Given the description of an element on the screen output the (x, y) to click on. 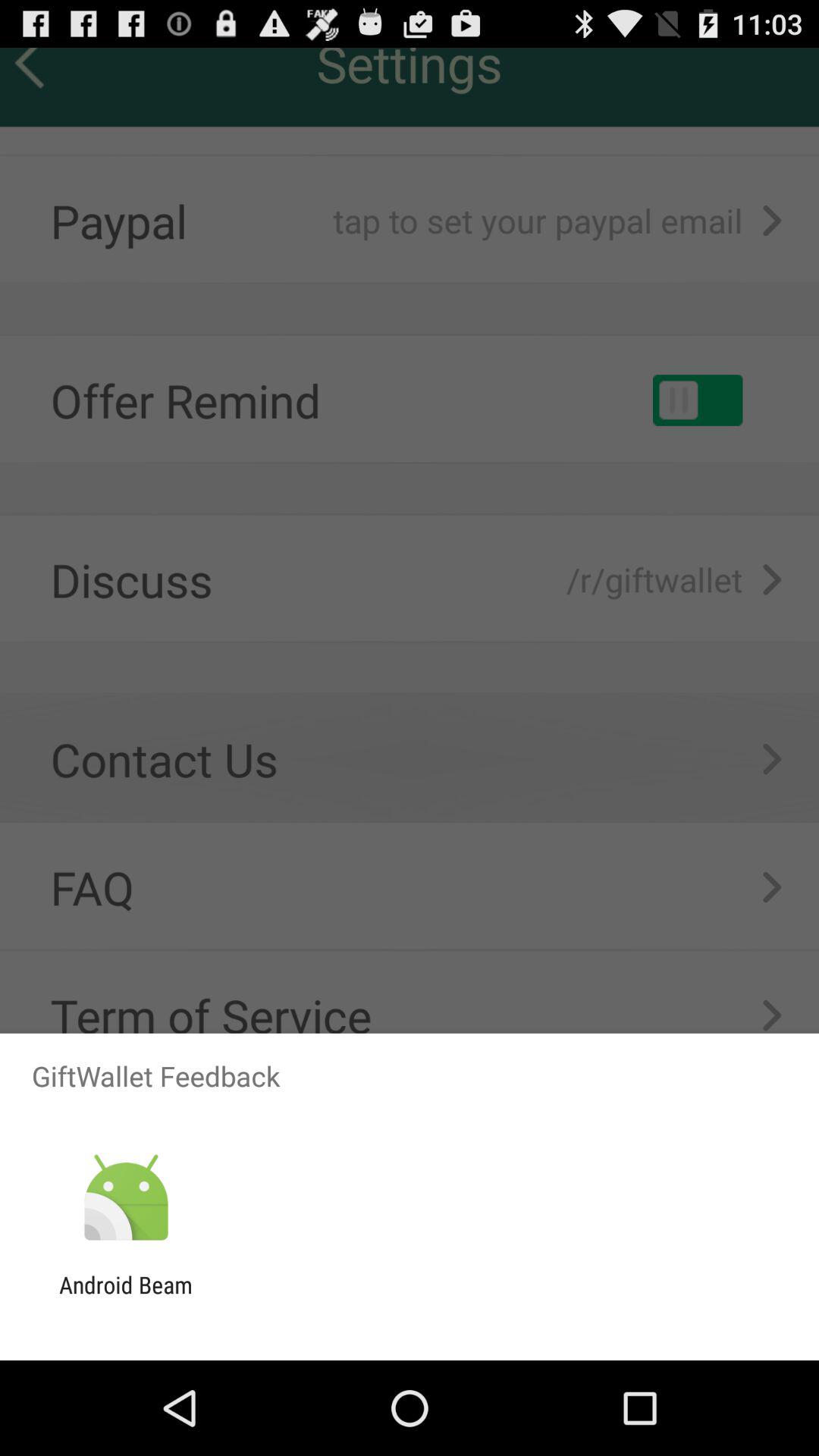
choose the android beam app (125, 1298)
